Given the description of an element on the screen output the (x, y) to click on. 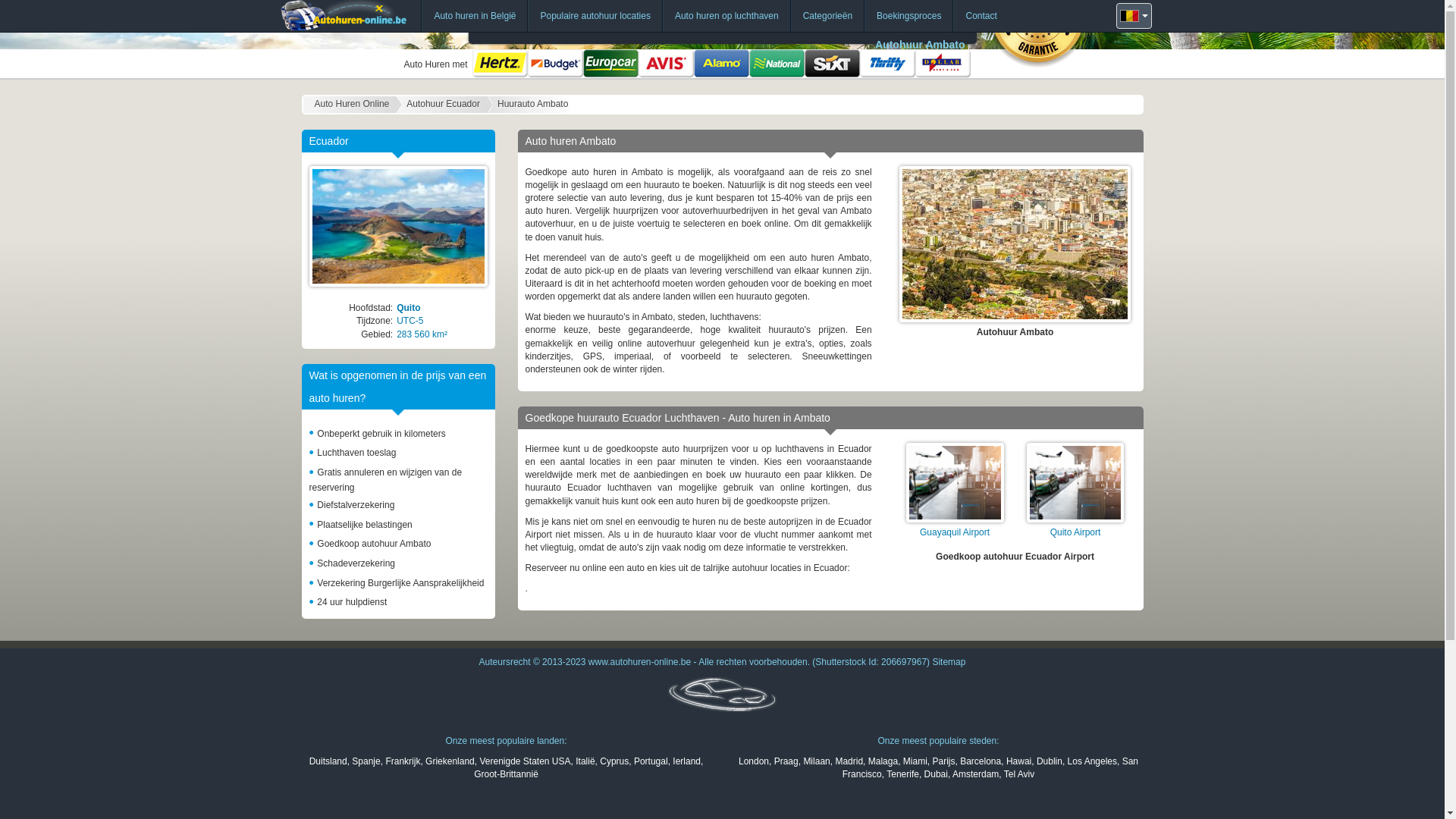
Auto huren op luchthaven Element type: text (726, 15)
Griekenland Element type: text (449, 761)
Tenerife Element type: text (902, 773)
Barcelona Element type: text (980, 761)
Ierland Element type: text (686, 761)
Contact Element type: text (980, 15)
San Francisco Element type: text (990, 767)
Sitemap Element type: text (948, 661)
Duitsland Element type: text (328, 761)
Autohuur Ambato, Ecuador Element type: hover (1014, 244)
Portugal Element type: text (650, 761)
Huurauto Ambato Element type: text (532, 104)
Ecuador Element type: hover (398, 226)
Boekingsproces Element type: text (908, 15)
Verenigde Staten USA Element type: text (524, 761)
Malaga Element type: text (882, 761)
Parijs Element type: text (942, 761)
London Element type: text (753, 761)
Autoverhuur Guayaquil Airport Element type: hover (955, 482)
Madrid Element type: text (848, 761)
Dublin Element type: text (1049, 761)
Amsterdam Element type: text (975, 773)
Autohuur Ecuador Element type: text (442, 104)
Los Angeles Element type: text (1092, 761)
Guayaquil Airport Element type: text (954, 532)
Populaire autohuur locaties Element type: text (594, 15)
Auto Huren Online Element type: text (351, 104)
Praag Element type: text (786, 761)
Frankrijk Element type: text (402, 761)
Auto huren op Quito Airport Element type: hover (1075, 482)
Dubai Element type: text (935, 773)
Tel Aviv Element type: text (1019, 773)
Milaan Element type: text (816, 761)
Quito Element type: text (408, 307)
Cyprus Element type: text (613, 761)
Quito Airport Element type: text (1075, 532)
Spanje Element type: text (365, 761)
Miami Element type: text (915, 761)
Hawai Element type: text (1018, 761)
